Given the description of an element on the screen output the (x, y) to click on. 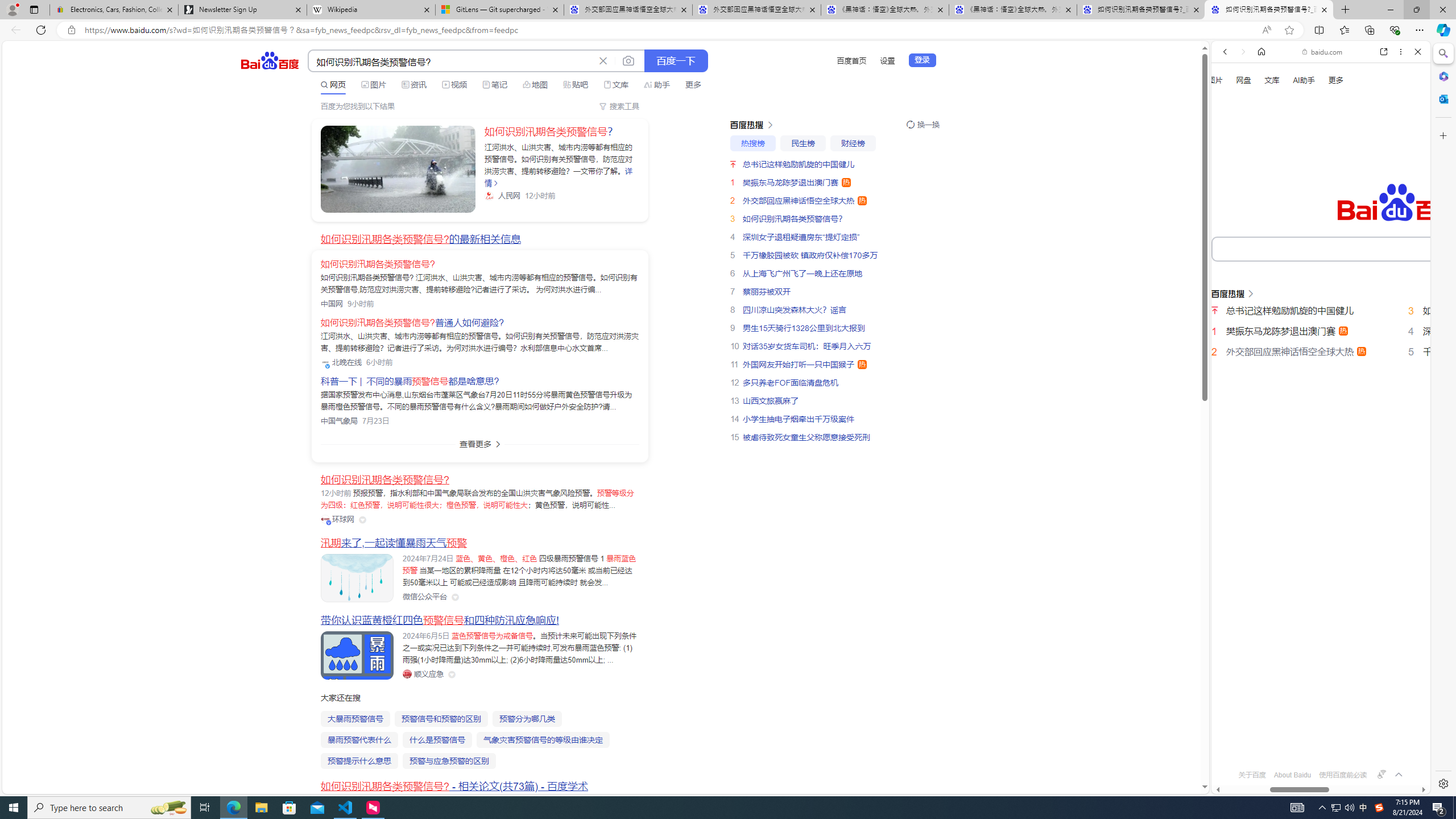
OFTV (1315, 743)
Electronics, Cars, Fashion, Collectibles & More | eBay (114, 9)
English (Uk) (1320, 353)
Global web icon (1232, 743)
OFTV - Enjoy videos from your favorite OF creators! (1315, 753)
Class: sc-link _link_kwqvb_2 -v-color-primary block (398, 168)
